Given the description of an element on the screen output the (x, y) to click on. 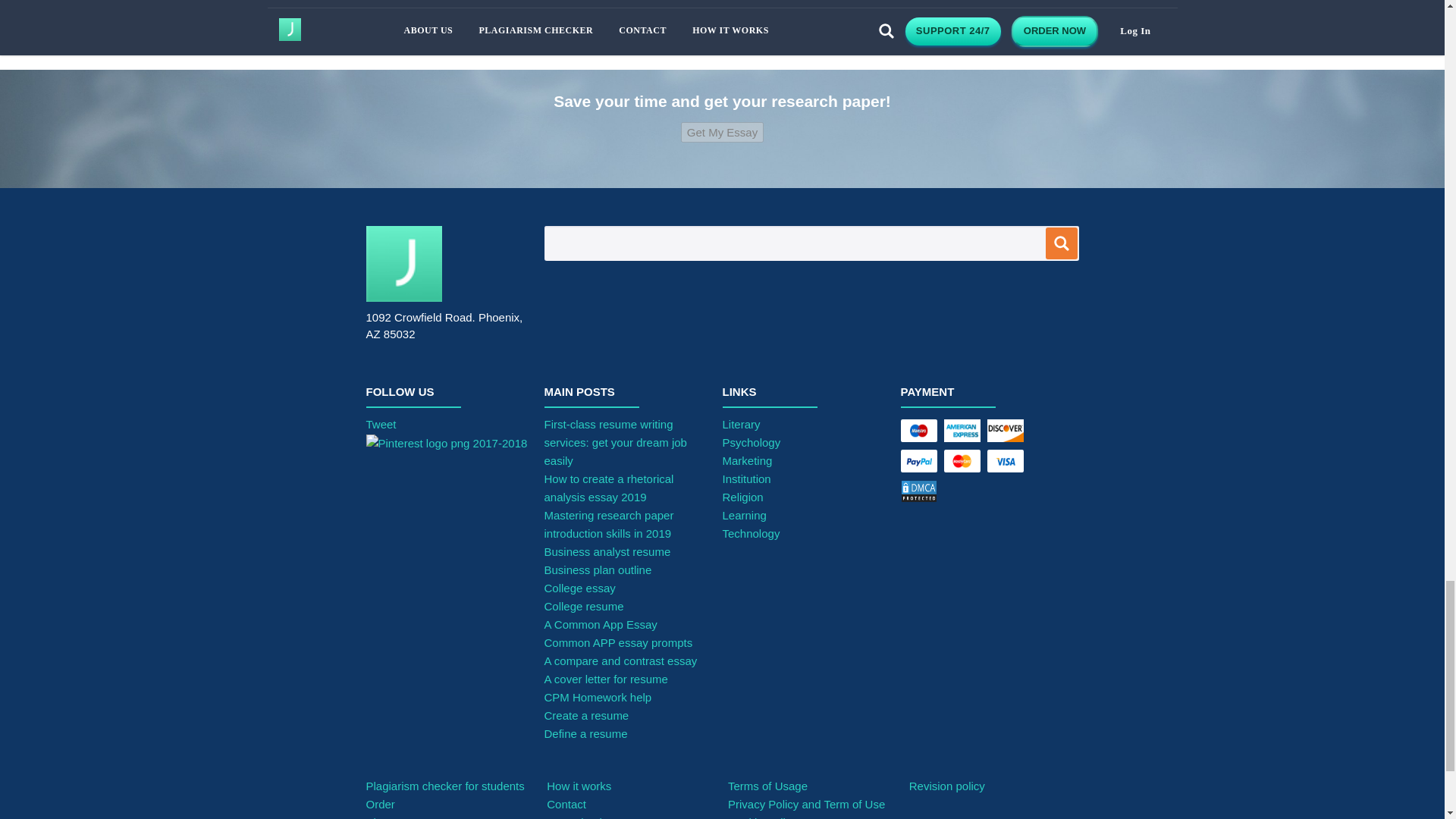
Content Protection by DMCA.com (965, 494)
